Given the description of an element on the screen output the (x, y) to click on. 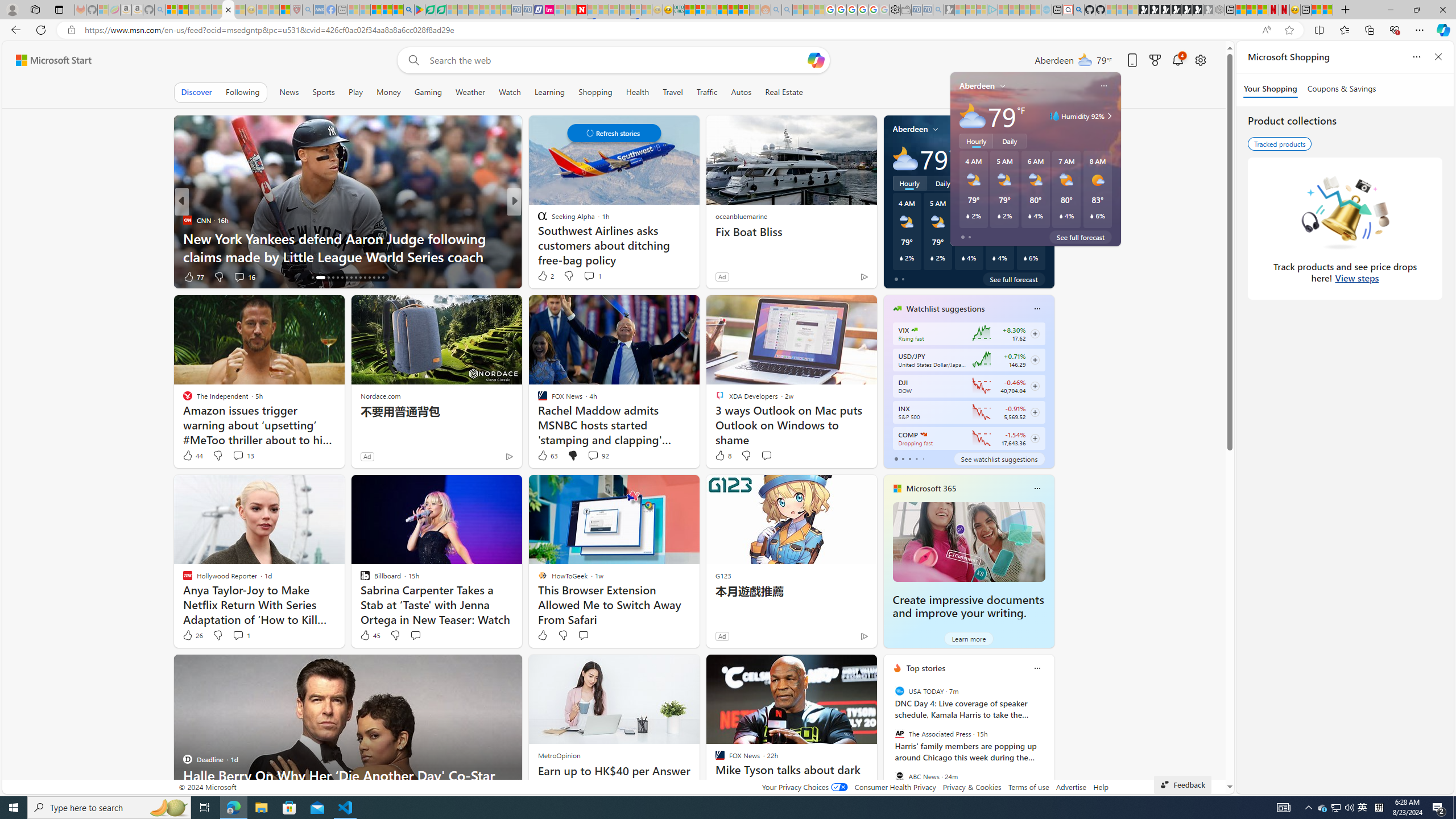
View comments 9 Comment (592, 276)
Pets - MSN (387, 9)
Class: control (613, 132)
AutomationID: tab-26 (364, 277)
tab-4 (923, 458)
G123 (722, 574)
View comments 92 Comment (592, 455)
AutomationID: tab-19 (332, 277)
22 Like (543, 276)
44 Like (192, 455)
